Given the description of an element on the screen output the (x, y) to click on. 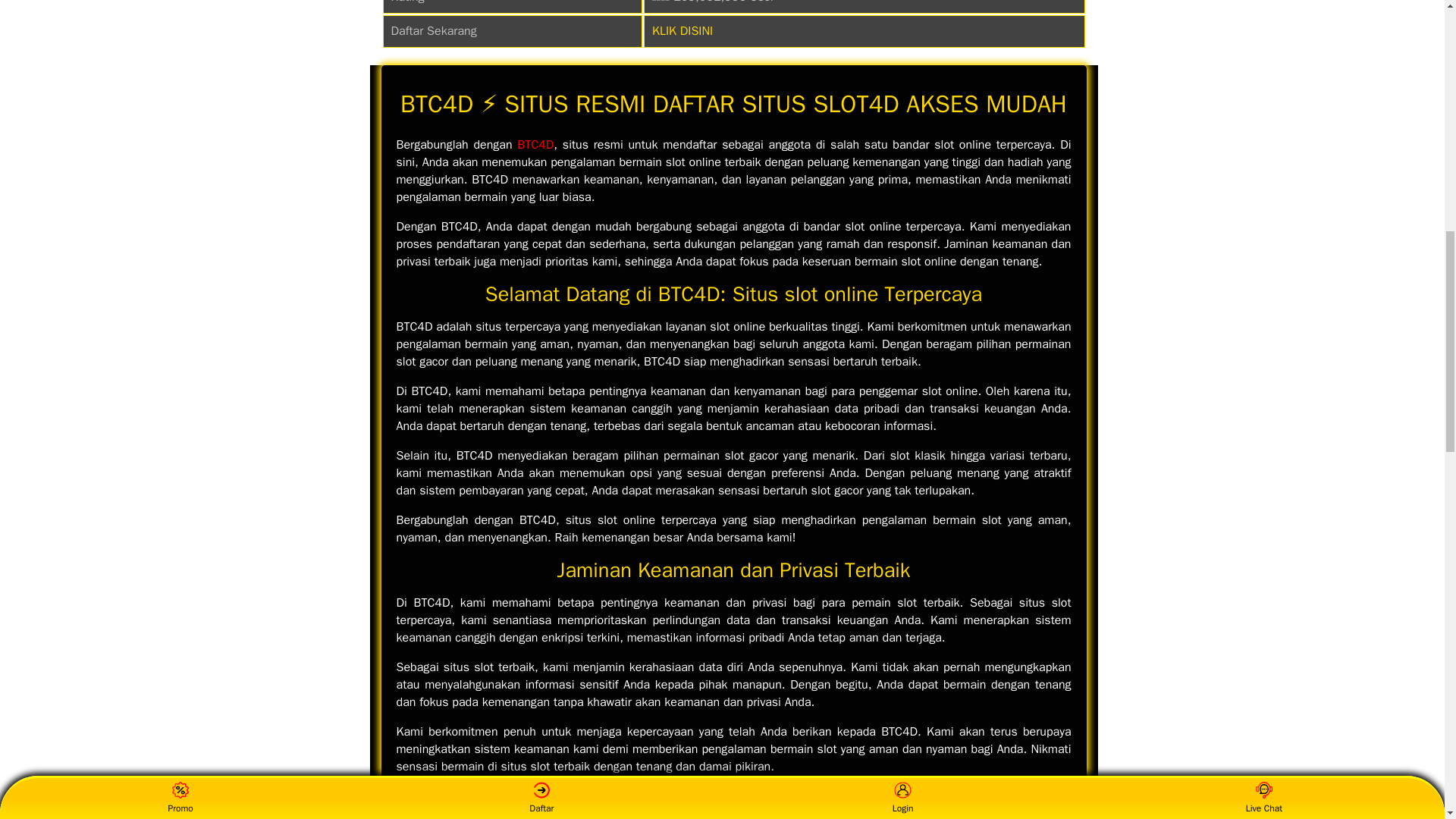
BTC4D (534, 144)
BTC4D (534, 144)
KLIK DISINI (682, 30)
